Given the description of an element on the screen output the (x, y) to click on. 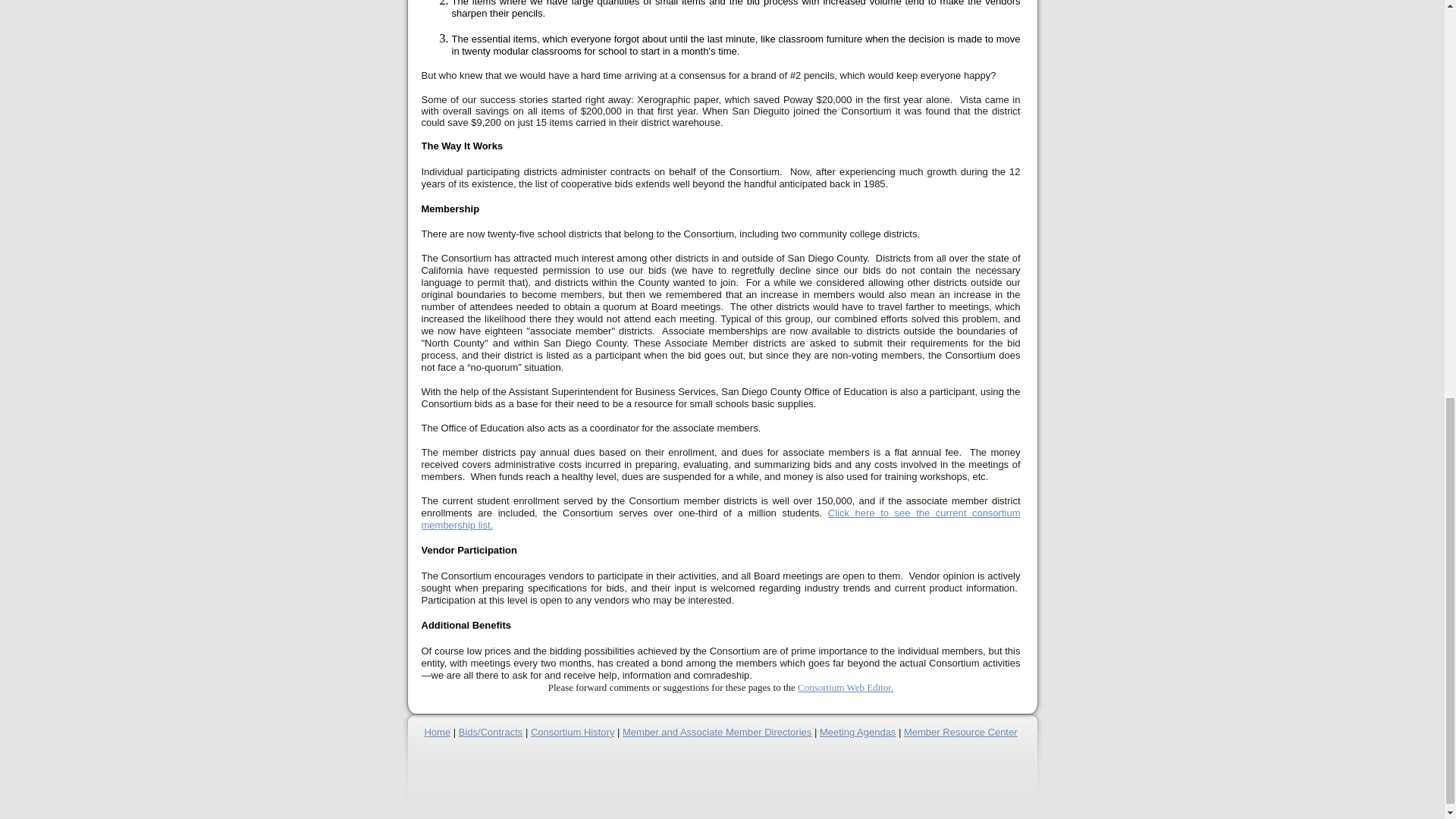
Home (436, 731)
Member and Associate Member Directories (716, 731)
Consortium Web Editor. (845, 686)
Meeting Agendas (857, 731)
Click here to see the current consortium membership list. (721, 518)
Consortium History (572, 731)
Member Resource Center (960, 731)
